Given the description of an element on the screen output the (x, y) to click on. 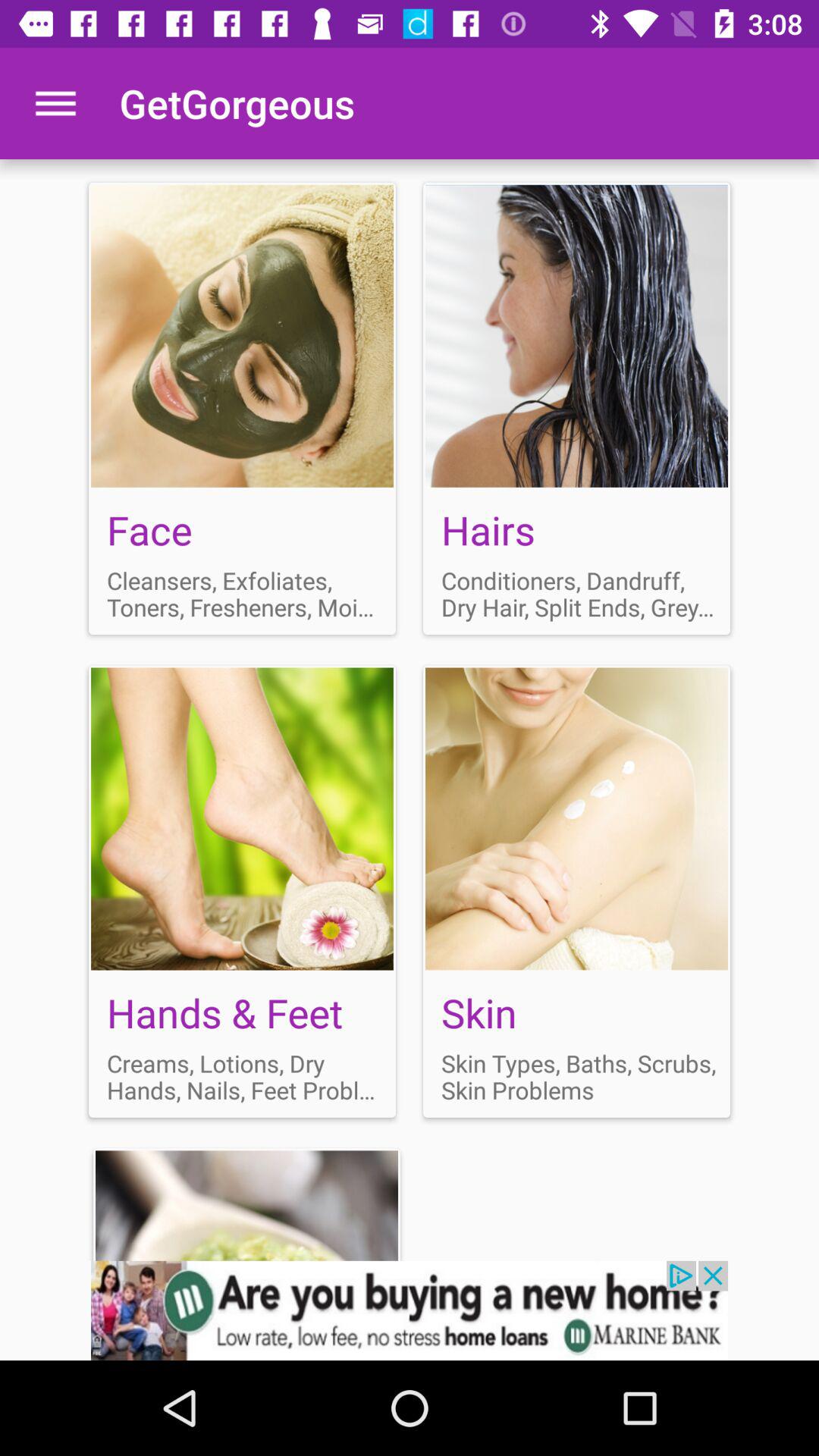
hairs advertisement (576, 408)
